Given the description of an element on the screen output the (x, y) to click on. 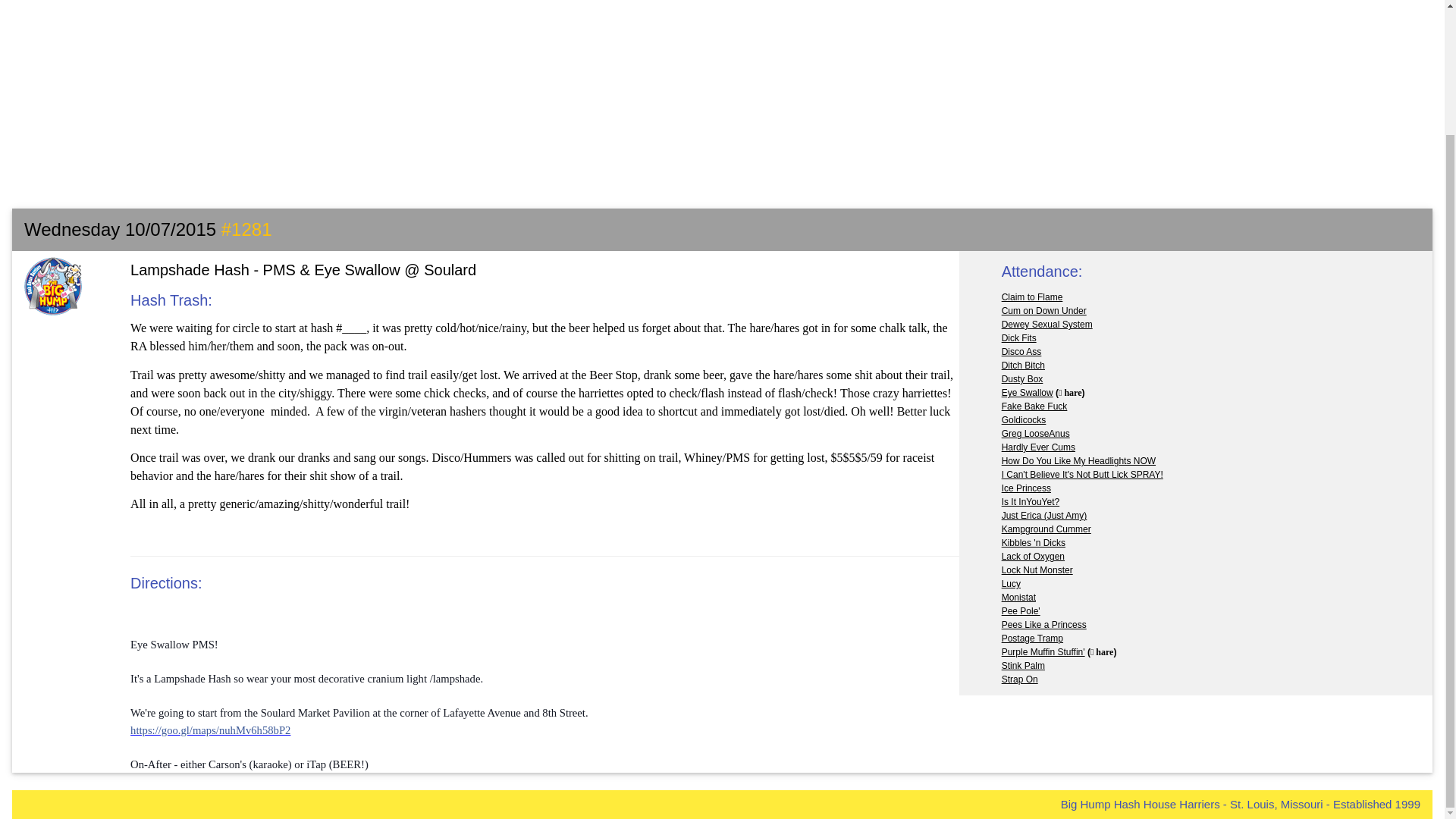
Fake Bake Fuck (1034, 406)
Lock Nut Monster (1037, 570)
Kibbles 'n Dicks (1033, 542)
Greg LooseAnus (1035, 433)
Kampground Cummer (1045, 529)
Dusty Box (1022, 378)
Ditch Bitch (1023, 365)
Lucy (1010, 583)
Ice Princess (1026, 488)
I Can't Believe It's Not Butt Lick SPRAY! (1082, 474)
